Given the description of an element on the screen output the (x, y) to click on. 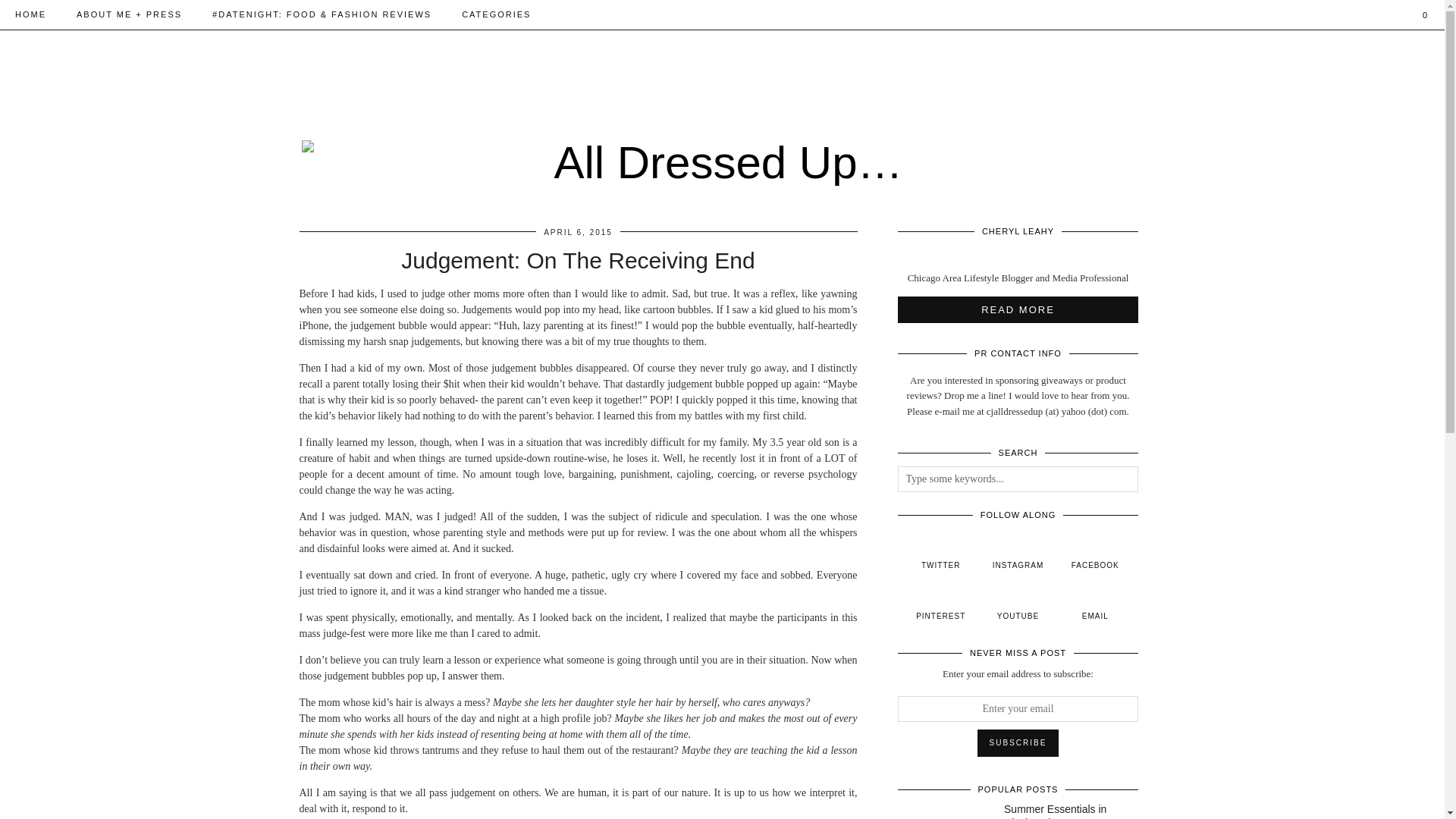
FACEBOOK (1095, 553)
CATEGORIES (496, 14)
READ MORE (1018, 309)
PINTEREST (940, 604)
YOUTUBE (1018, 604)
Subscribe (1017, 742)
HOME (30, 14)
TWITTER (940, 553)
EMAIL (1095, 604)
INSTAGRAM (1018, 553)
